Given the description of an element on the screen output the (x, y) to click on. 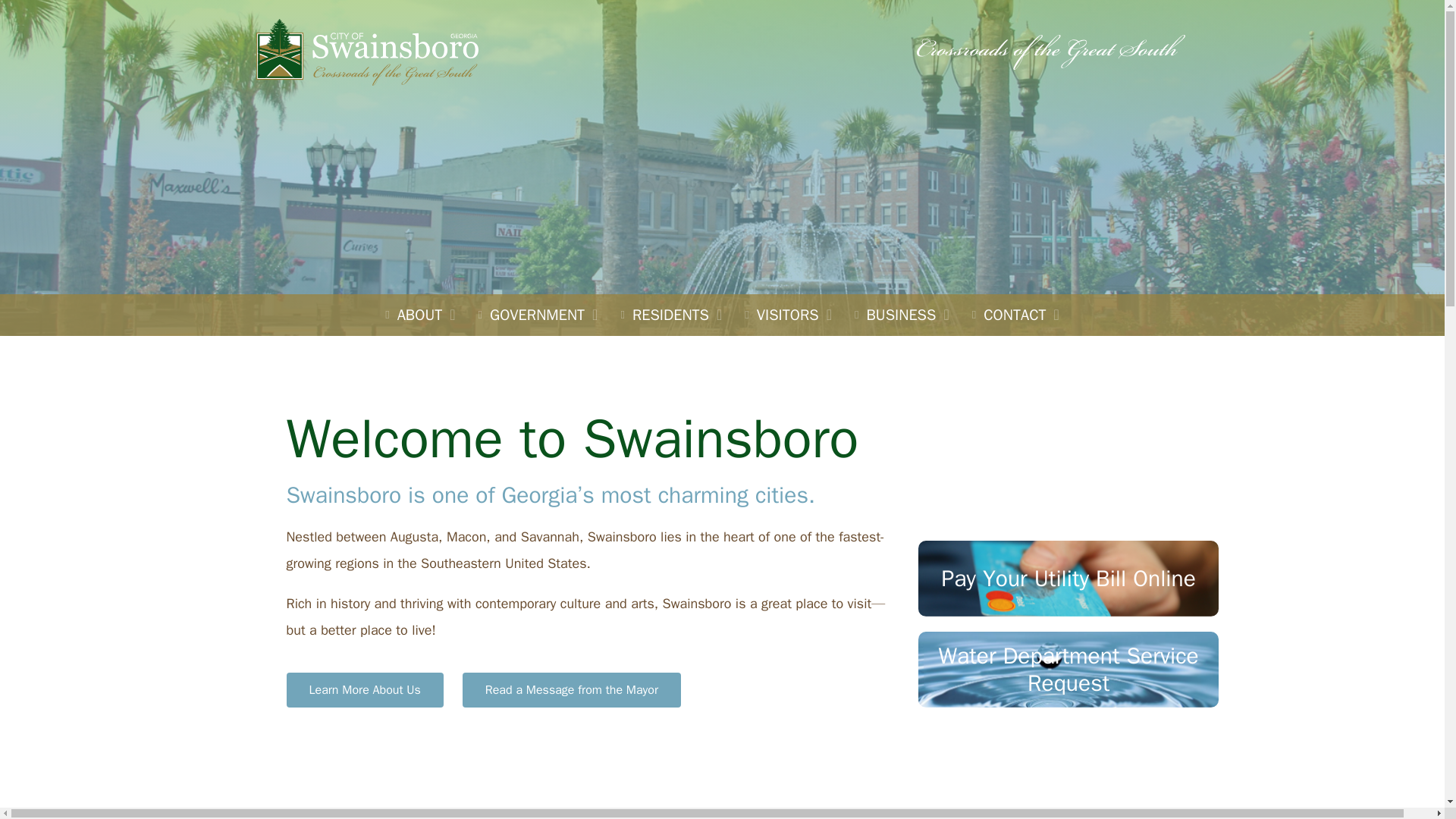
RESIDENTS (670, 314)
GOVERNMENT (538, 314)
ABOUT (419, 314)
